Given the description of an element on the screen output the (x, y) to click on. 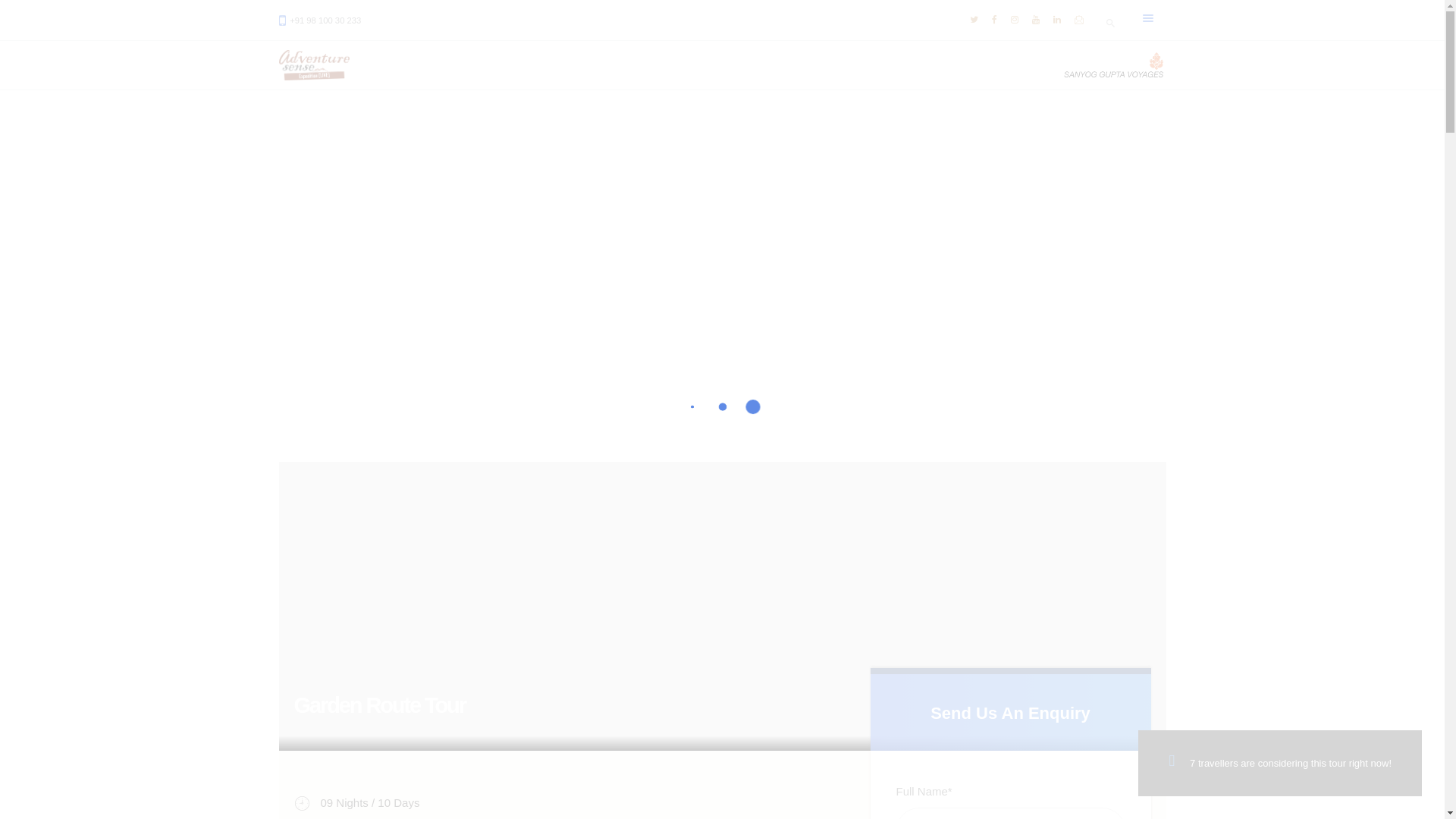
July 20, 2021 (739, 263)
Featured Experience (513, 263)
0Reactions (888, 263)
South Africa Adventure Tours (627, 263)
View all posts in Featured Experience (513, 263)
View all posts in South Africa Adventure Tours (627, 263)
FEATURED EXPERIENCE (679, 297)
830Views (817, 263)
HOME (577, 297)
Share (950, 263)
